Given the description of an element on the screen output the (x, y) to click on. 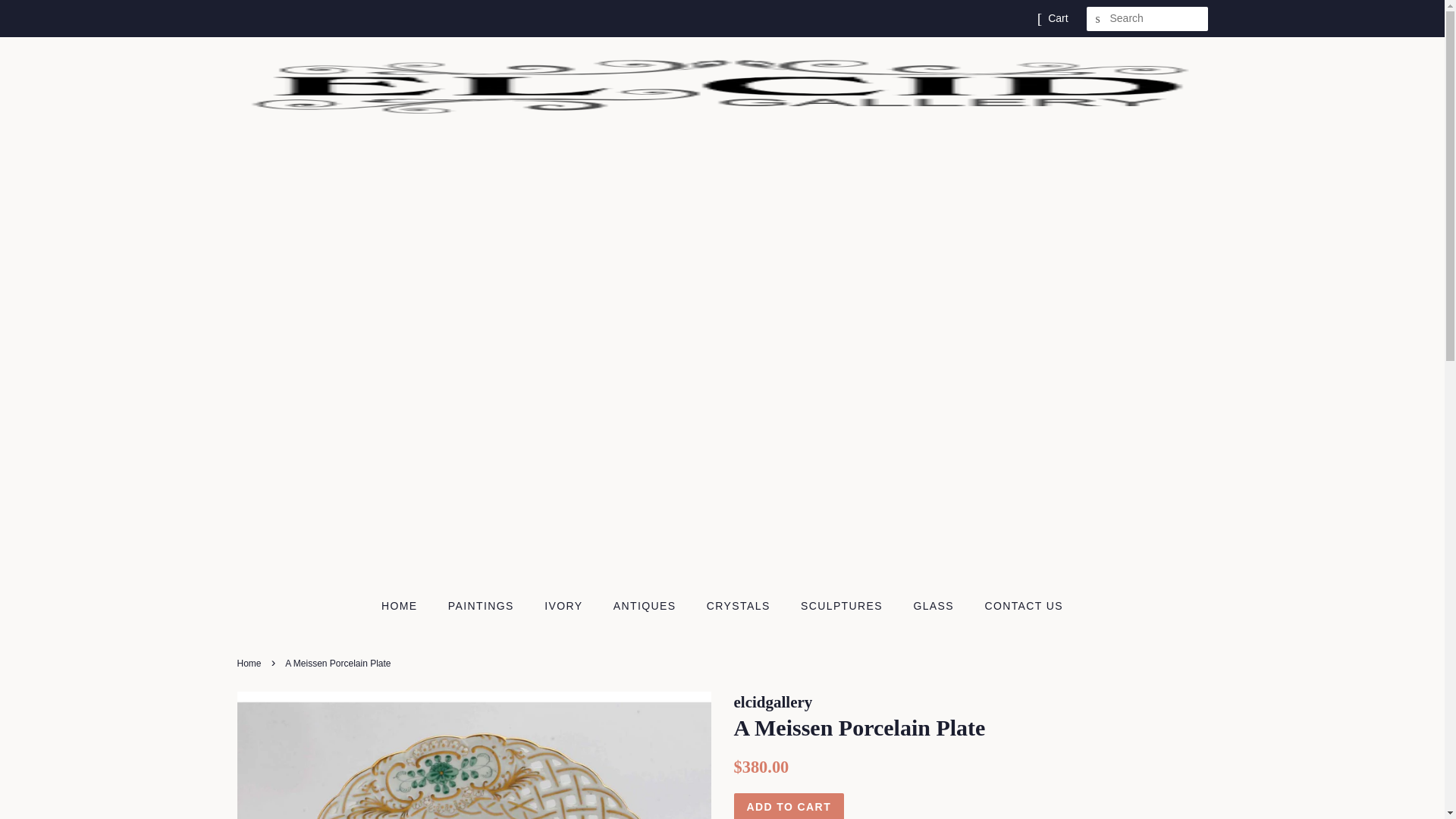
SCULPTURES (843, 606)
IVORY (564, 606)
Cart (1057, 18)
SEARCH (1097, 18)
Back to the frontpage (249, 663)
ADD TO CART (788, 806)
PAINTINGS (482, 606)
HOME (406, 606)
Home (249, 663)
ANTIQUES (646, 606)
